Given the description of an element on the screen output the (x, y) to click on. 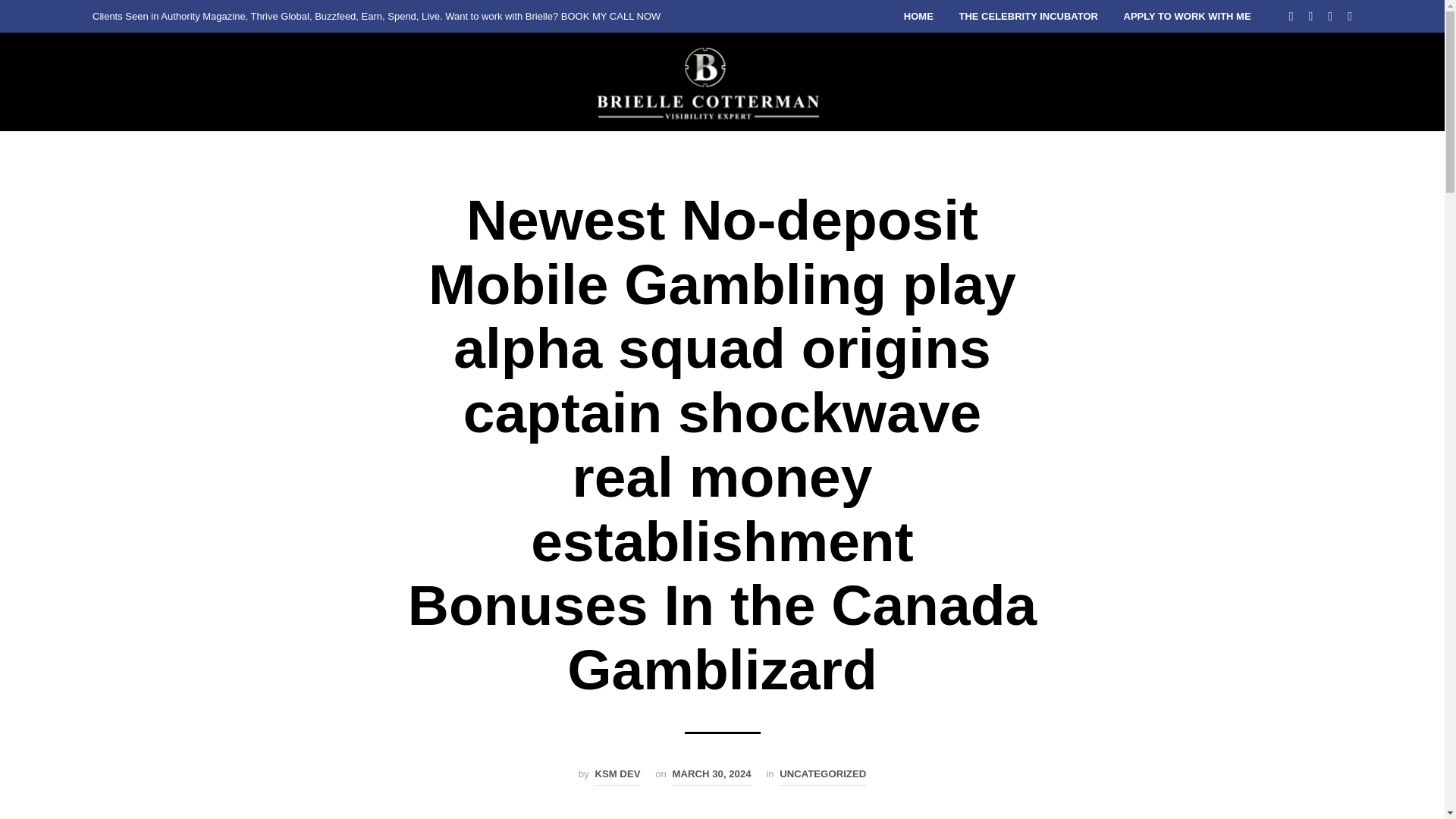
HOME (918, 16)
View all posts by KSM DEV (617, 775)
Celebrity Maker and Publicity Expert (710, 81)
UNCATEGORIZED (822, 775)
MARCH 30, 2024 (711, 775)
KSM DEV (617, 775)
THE CELEBRITY INCUBATOR (1027, 16)
APPLY TO WORK WITH ME (1187, 16)
